Given the description of an element on the screen output the (x, y) to click on. 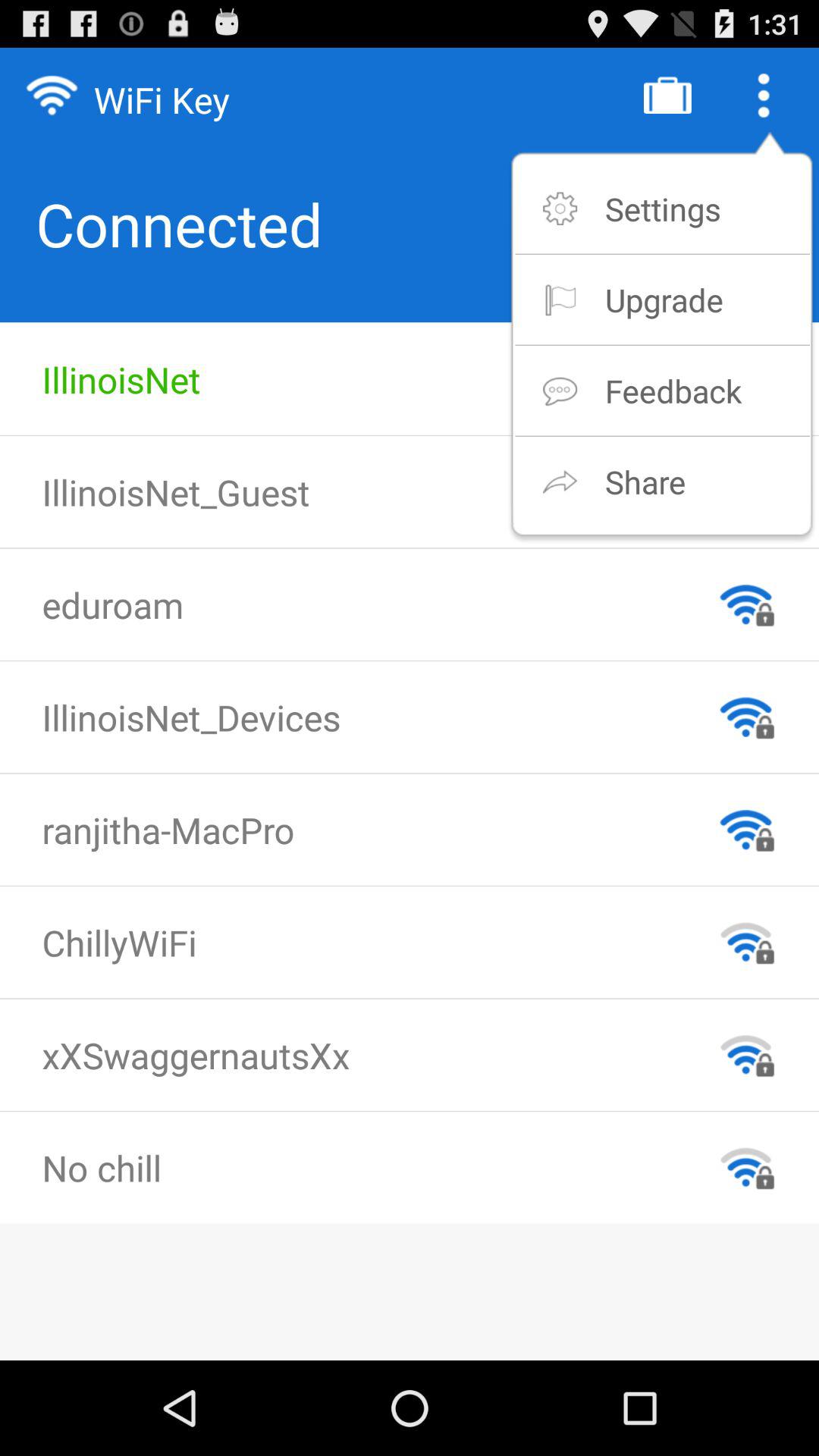
select the icon above the upgrade item (663, 208)
